Given the description of an element on the screen output the (x, y) to click on. 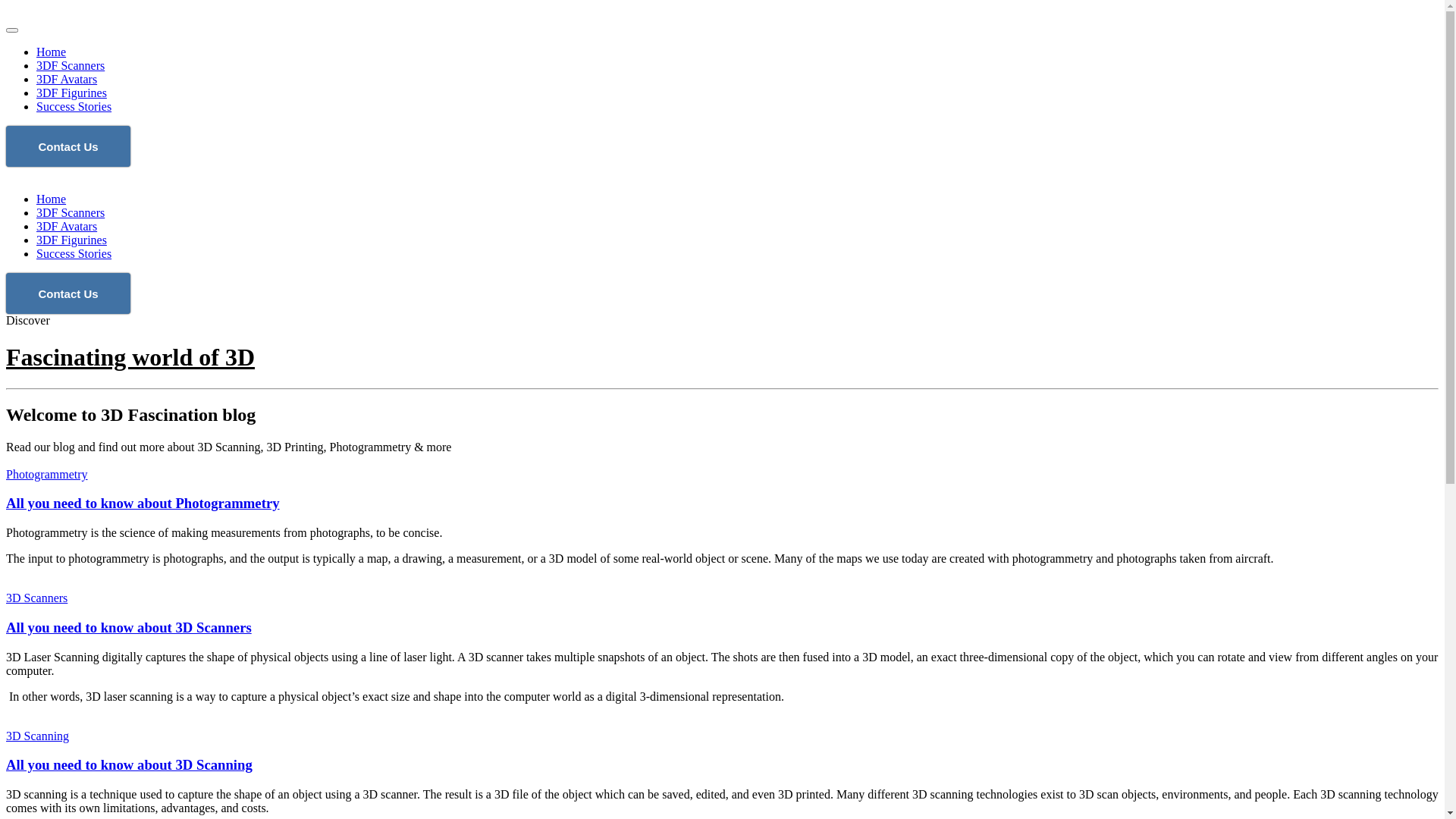
3DF Figurines Element type: text (71, 92)
All you need to know about 3D Scanning Element type: text (129, 764)
3D Scanning Element type: text (37, 735)
Contact Us Element type: text (68, 145)
All you need to know about 3D Scanners Element type: text (128, 627)
3DF Avatars Element type: text (66, 78)
3DF Figurines Element type: text (71, 239)
3DF Scanners Element type: text (70, 212)
Success Stories Element type: text (73, 253)
3D Scanners Element type: text (36, 597)
Home Element type: text (50, 51)
All you need to know about Photogrammetry Element type: text (142, 503)
Photogrammetry Element type: text (46, 473)
3DF Avatars Element type: text (66, 225)
Success Stories Element type: text (73, 106)
Contact Us Element type: text (68, 293)
Home Element type: text (50, 198)
3DF Scanners Element type: text (70, 65)
